Given the description of an element on the screen output the (x, y) to click on. 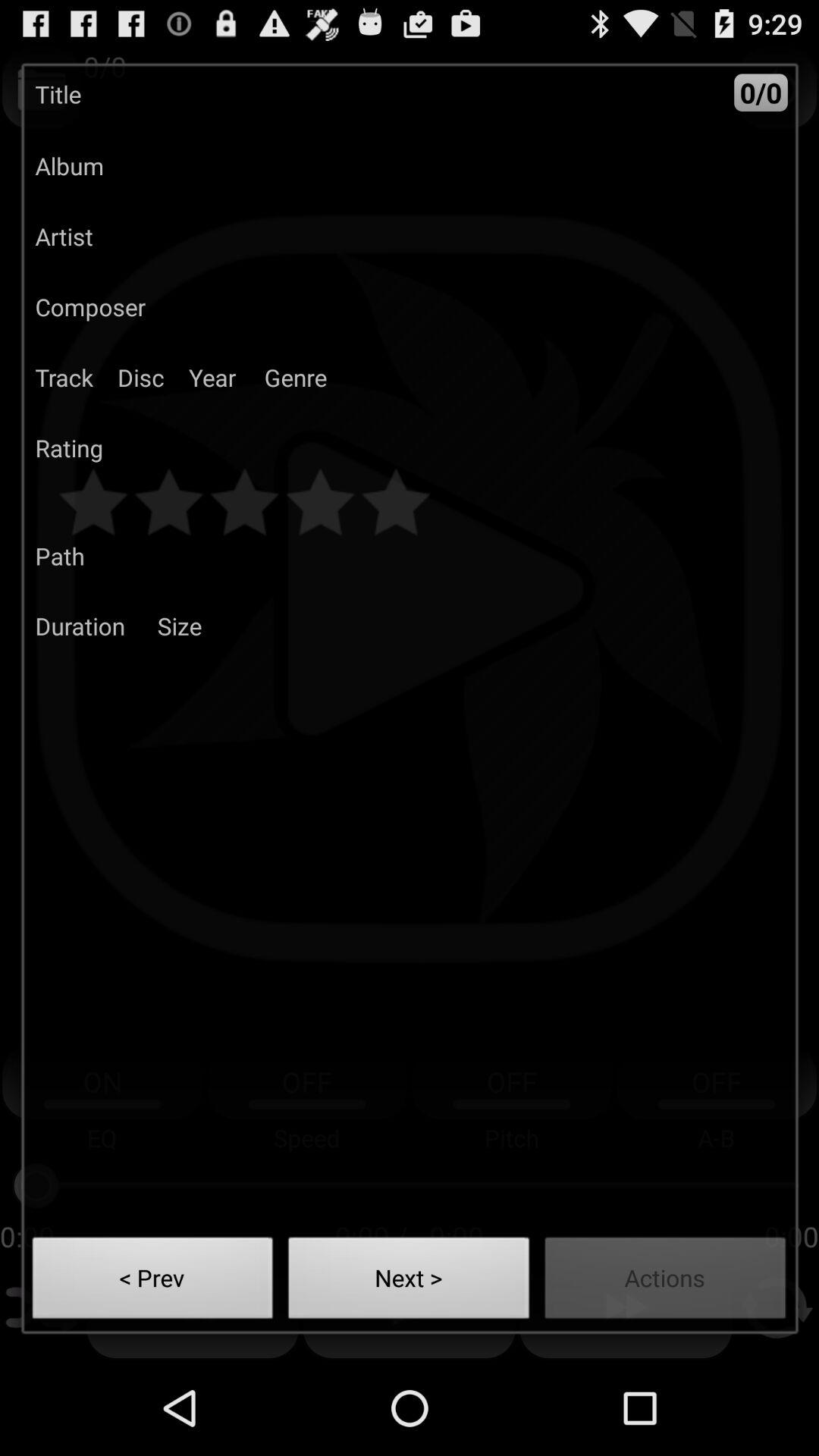
choose the next > (408, 1282)
